Given the description of an element on the screen output the (x, y) to click on. 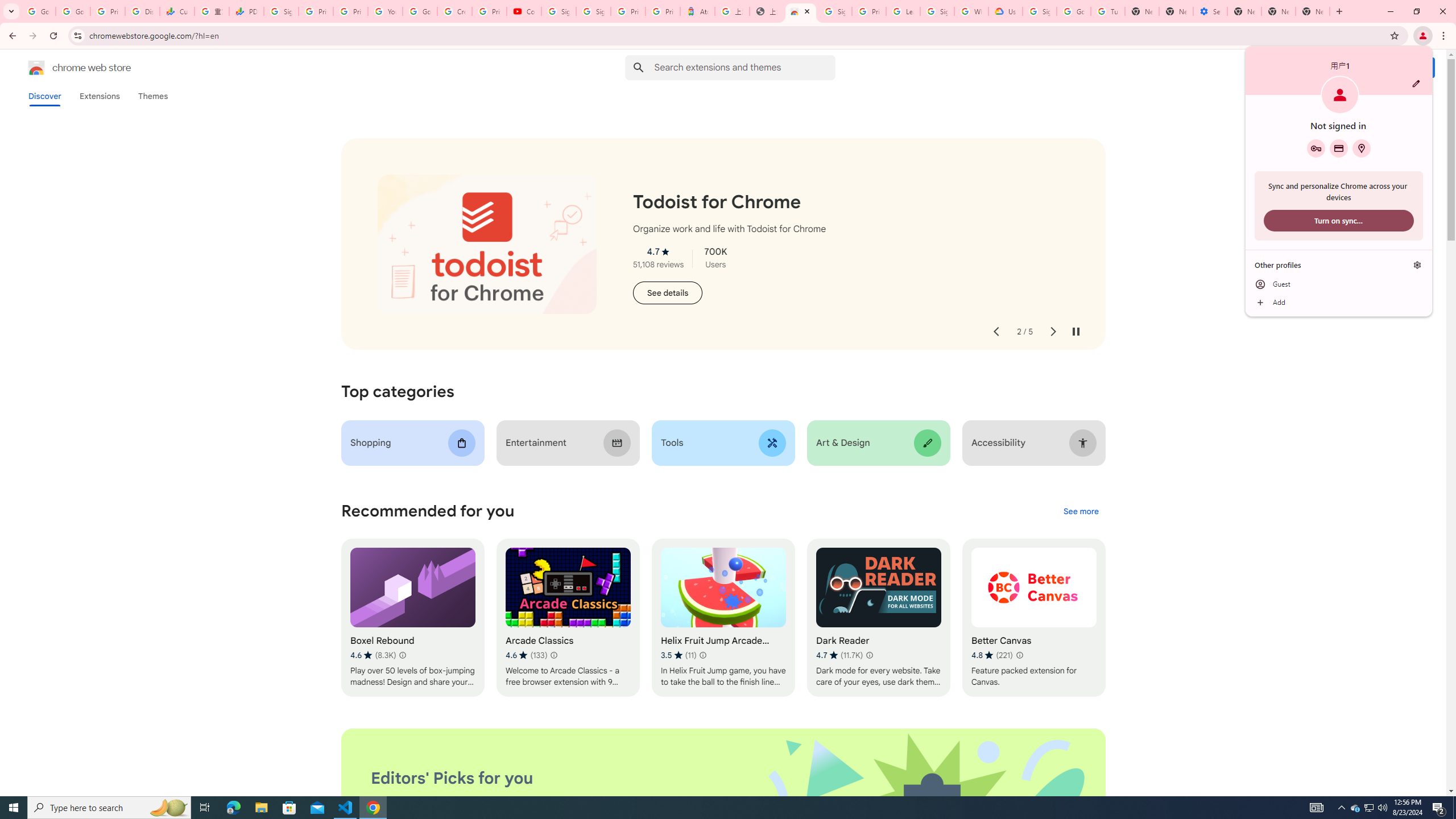
Payment methods (1338, 148)
Tools (722, 443)
Search highlights icon opens search home window (167, 807)
File Explorer (261, 807)
Sign in - Google Accounts (1039, 11)
Learn more about results and reviews "Better Canvas" (1019, 655)
Turn cookies on or off - Computer - Google Account Help (1107, 11)
Dark Reader (878, 617)
Pause auto-play (1075, 331)
Average rating 4.6 out of 5 stars. 8.3K ratings. (372, 655)
